Given the description of an element on the screen output the (x, y) to click on. 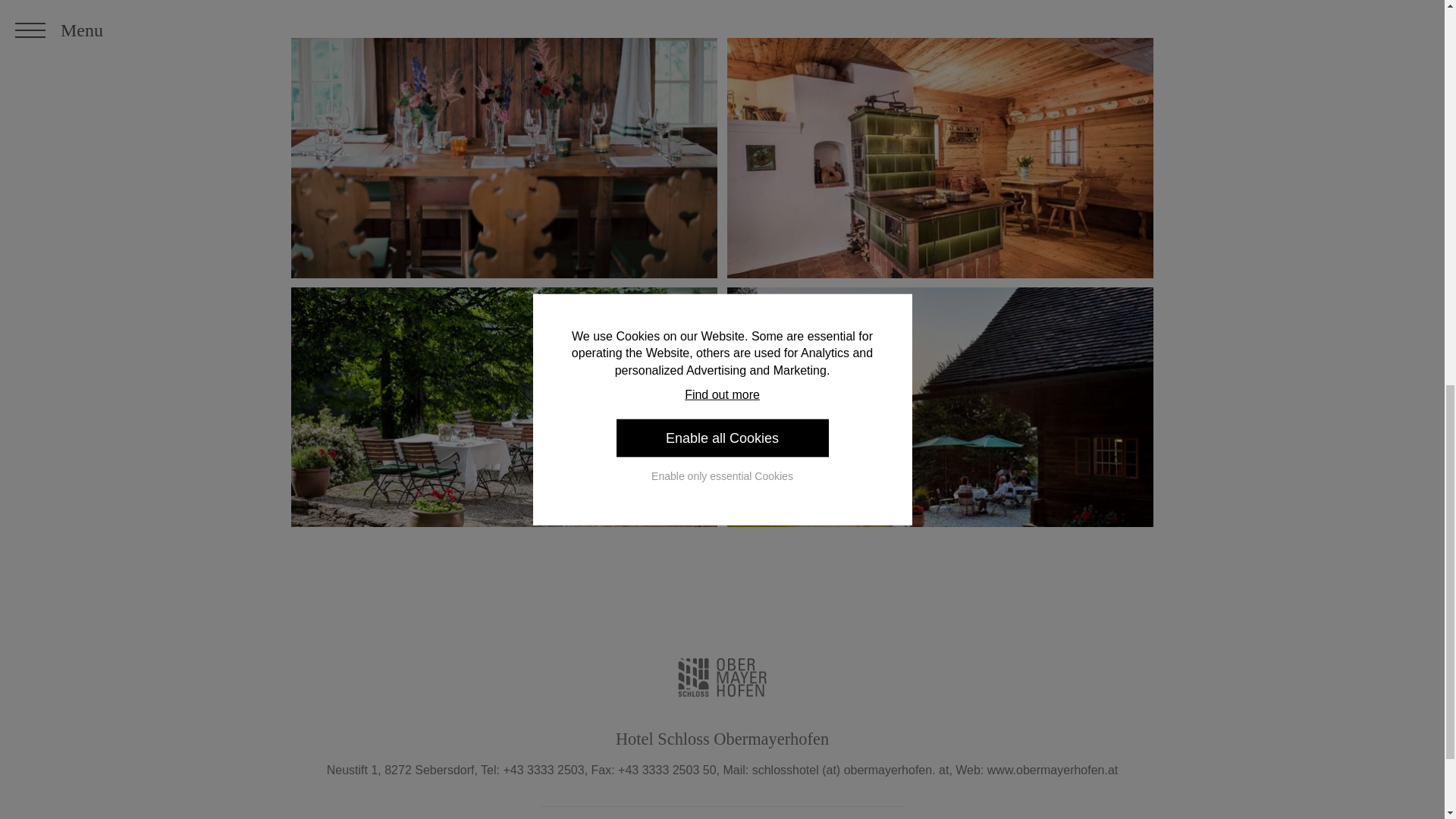
Schlosshotel Obermayerhofen (1052, 769)
sunset at Gaisrieglhof (939, 407)
E-Mail (850, 769)
terrace at Gaisrieglhof (504, 407)
Home (722, 677)
comfortable room at Gaisrieglhof (939, 157)
www.obermayerhofen.at (1052, 769)
banquet table at Gaisrieglhof (504, 157)
